Given the description of an element on the screen output the (x, y) to click on. 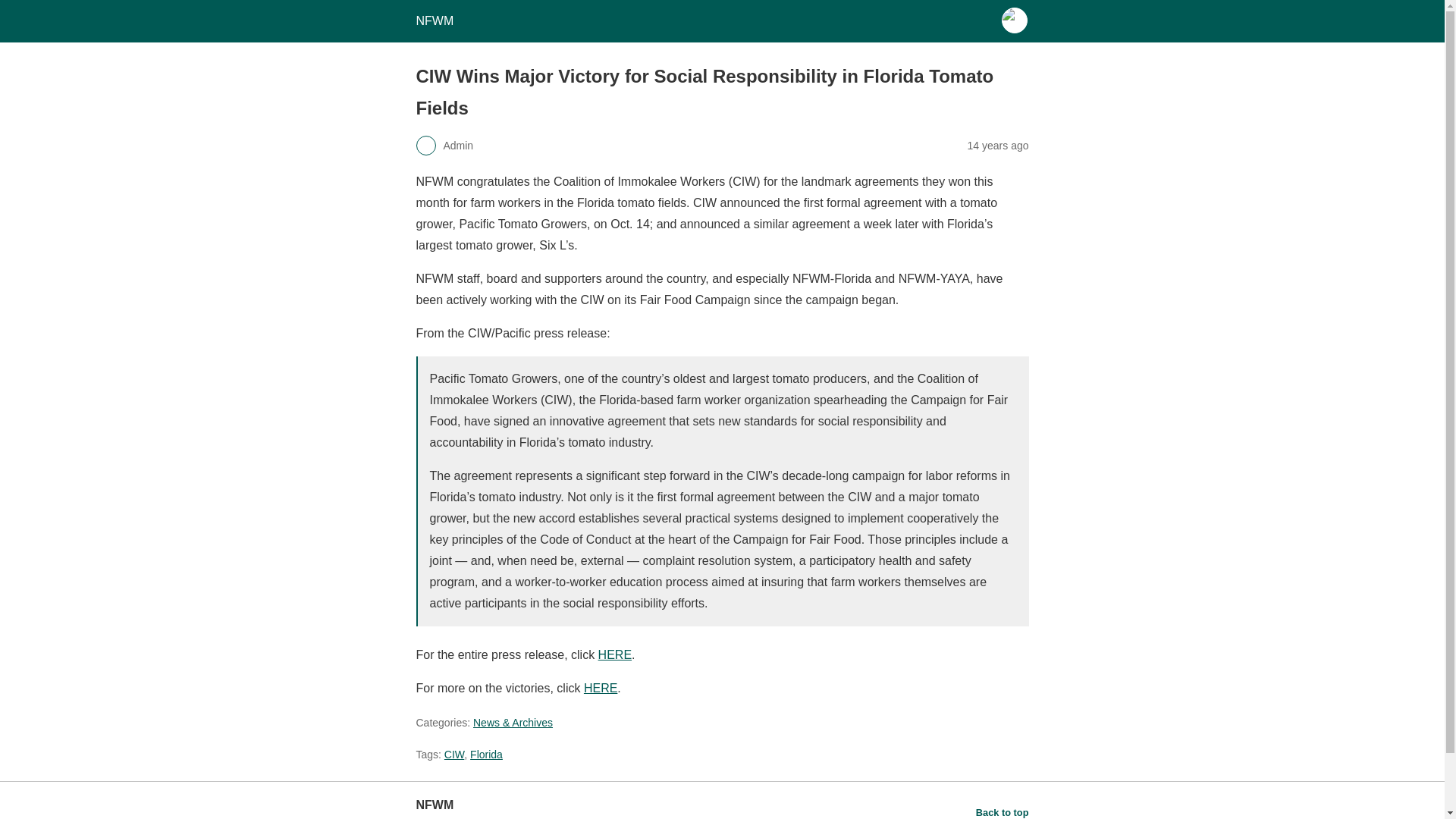
Back to top (1002, 811)
HERE (614, 654)
NFWM (433, 20)
Florida (486, 754)
HERE (600, 687)
CIW (454, 754)
